Given the description of an element on the screen output the (x, y) to click on. 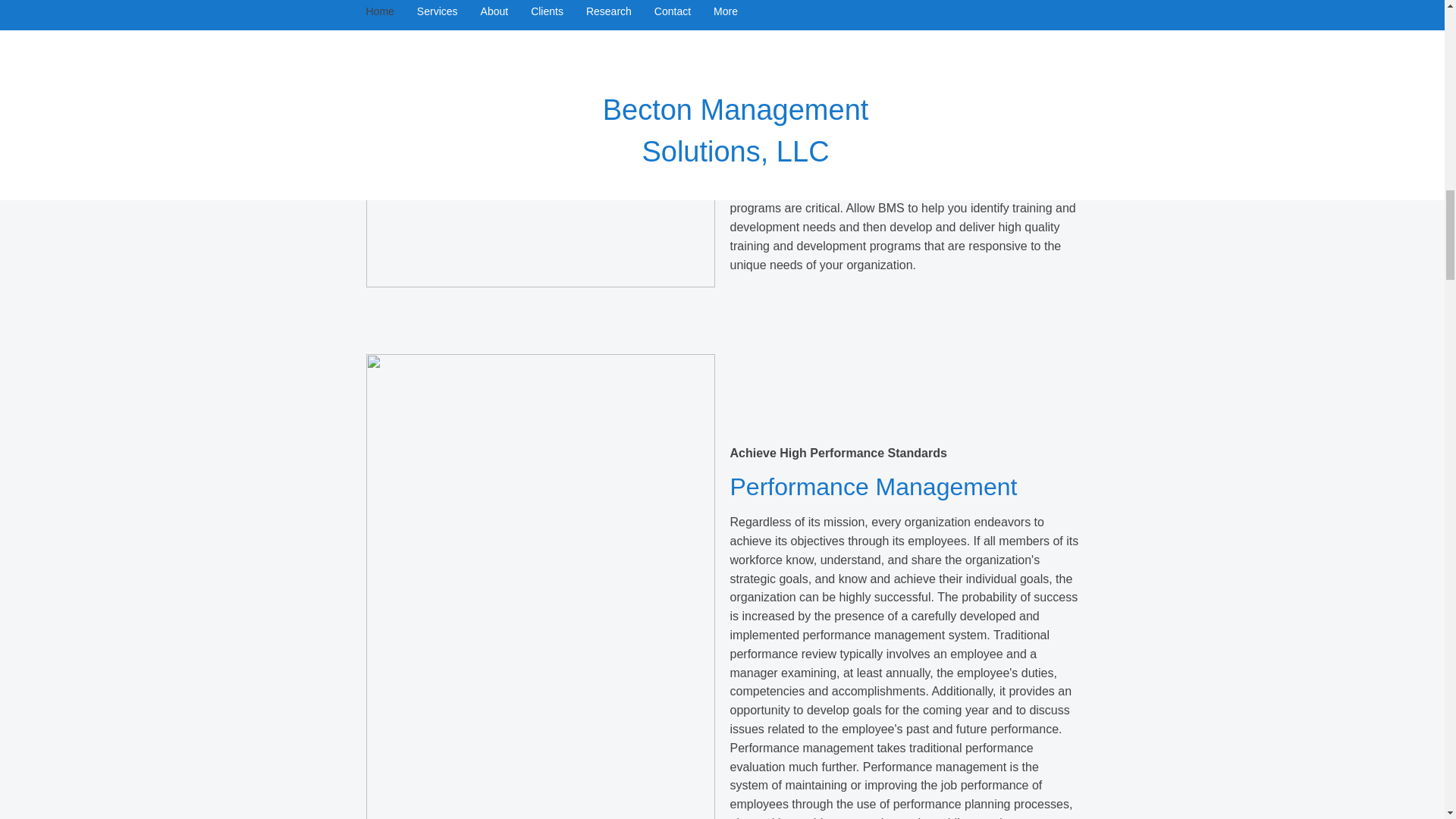
Successful Manager (539, 143)
